Given the description of an element on the screen output the (x, y) to click on. 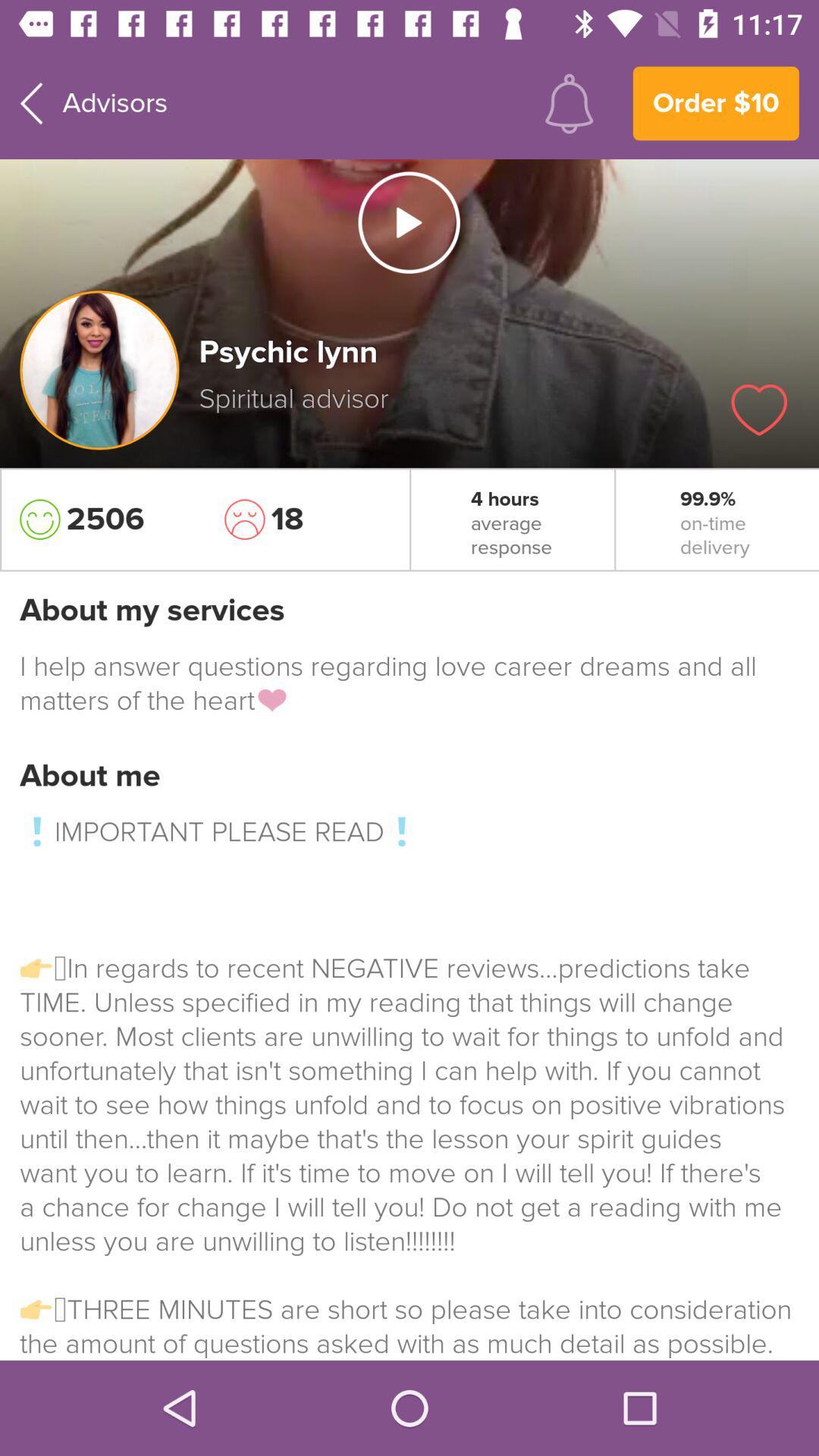
press the icon to the left of the 18 (102, 519)
